Given the description of an element on the screen output the (x, y) to click on. 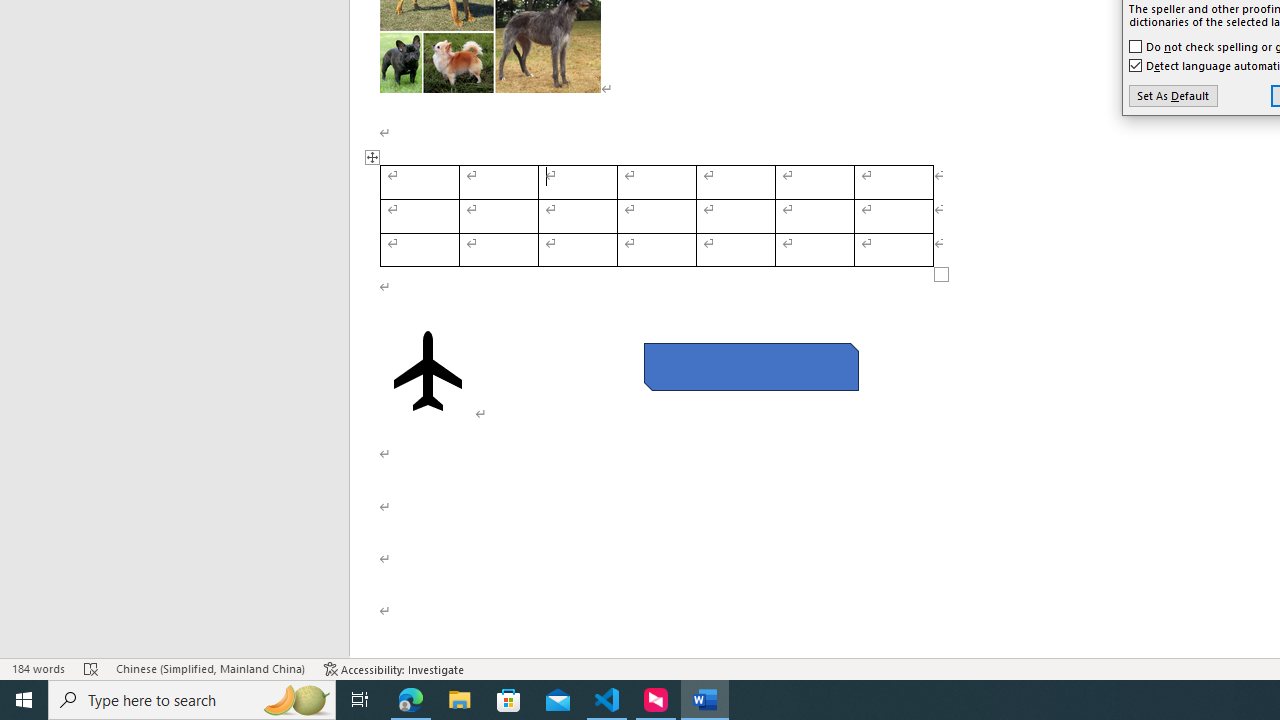
Word - 1 running window (704, 699)
Microsoft Edge - 1 running window (411, 699)
